Given the description of an element on the screen output the (x, y) to click on. 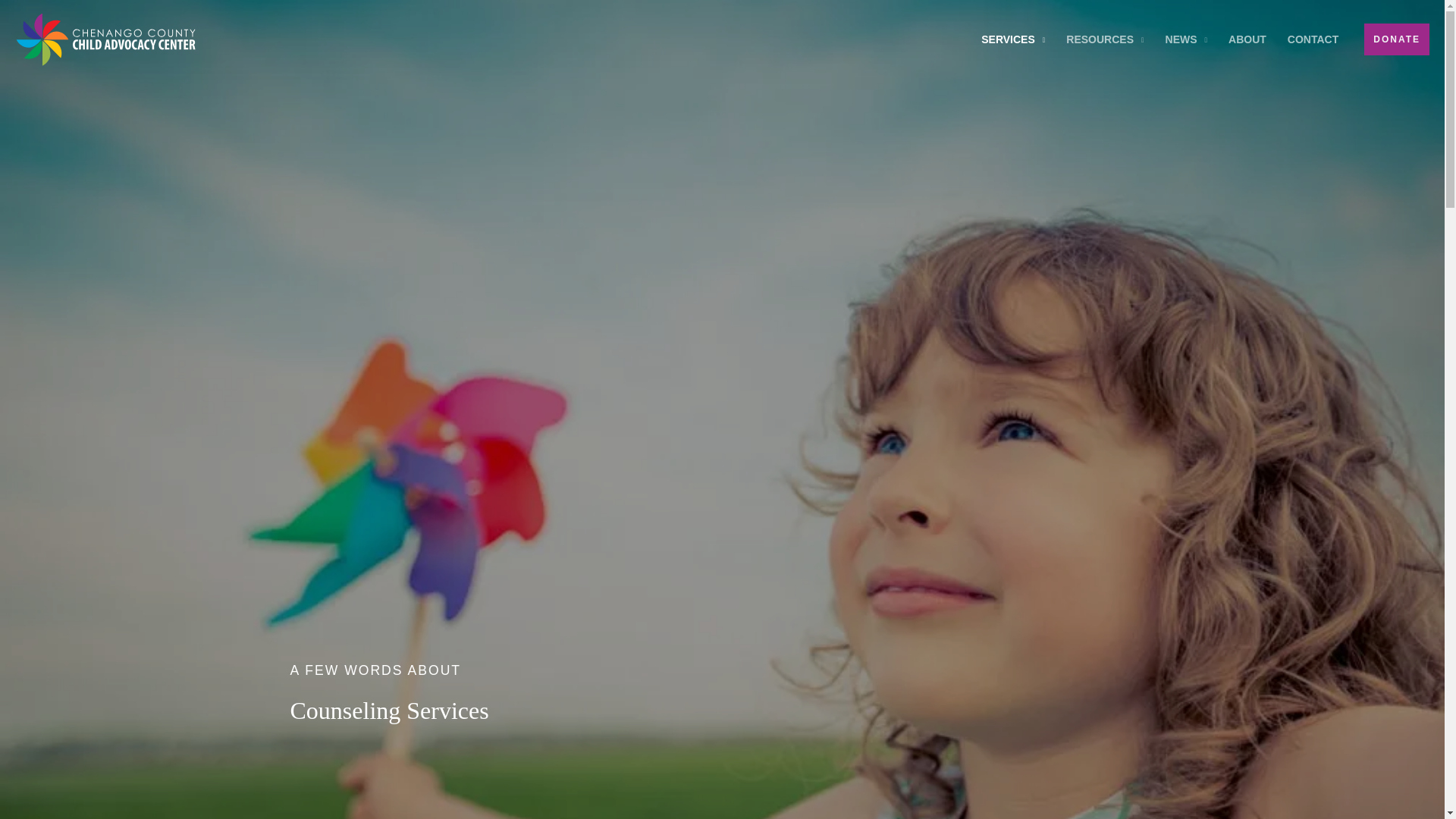
SERVICES (1013, 39)
NEWS (1186, 39)
ABOUT (1246, 39)
RESOURCES (1104, 39)
DONATE (1396, 39)
CONTACT (1312, 39)
